Given the description of an element on the screen output the (x, y) to click on. 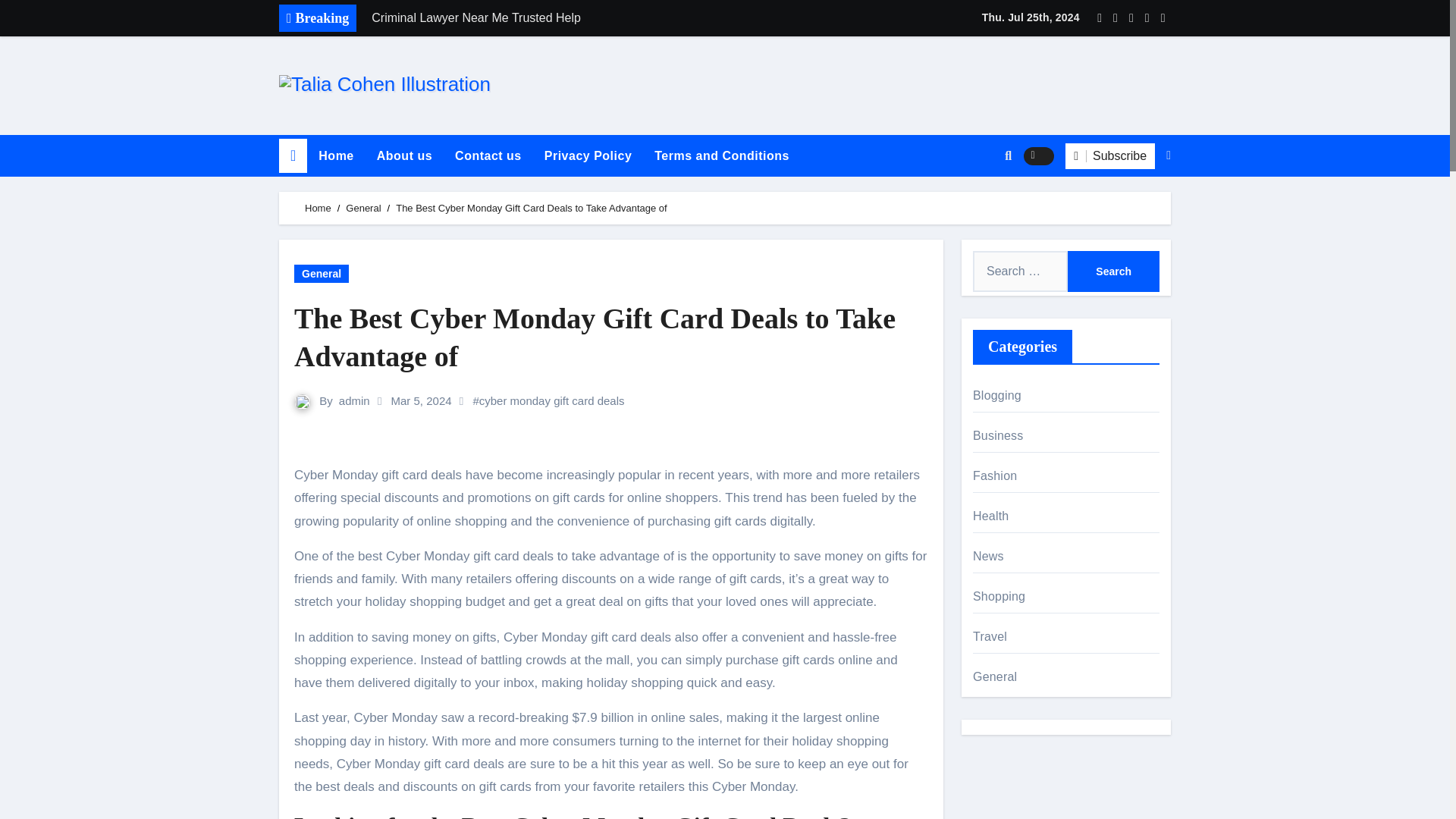
About us (404, 155)
Subscribe (1109, 155)
Home (336, 155)
Search (1112, 270)
Contact us (488, 155)
Criminal Lawyer Near Me Trusted Help (574, 18)
Home (336, 155)
Terms and Conditions (721, 155)
The Best Cyber Monday Gift Card Deals to Take Advantage of (611, 337)
Home (317, 207)
Privacy Policy (587, 155)
Search (1112, 270)
General (363, 207)
admin (354, 400)
Home (293, 155)
